Given the description of an element on the screen output the (x, y) to click on. 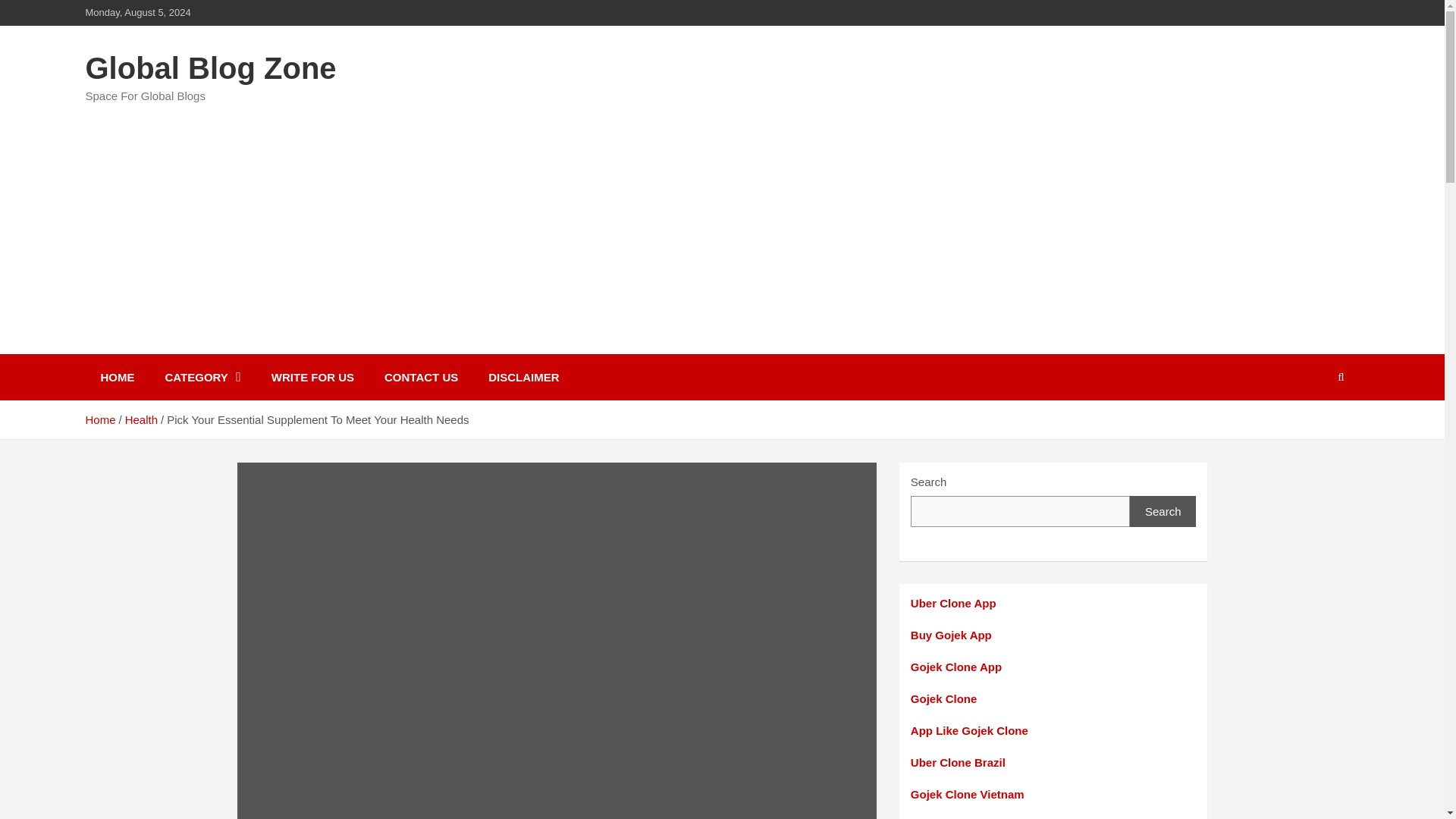
Global Blog Zone (210, 68)
Search (1162, 511)
Home (99, 419)
Health (141, 419)
HOME (116, 376)
CATEGORY (202, 376)
DISCLAIMER (523, 376)
CONTACT US (421, 376)
WRITE FOR US (312, 376)
